Given the description of an element on the screen output the (x, y) to click on. 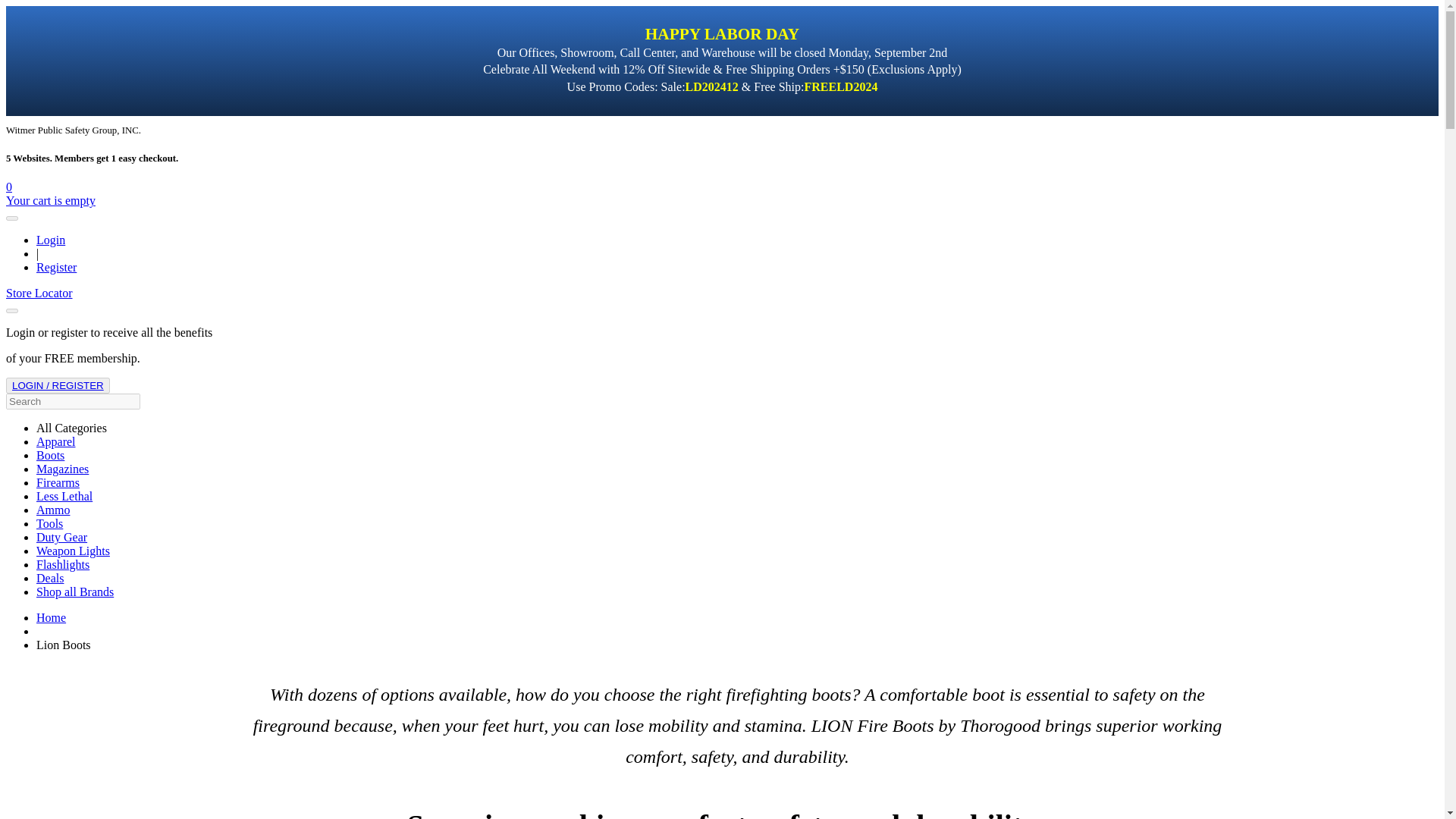
Shop all Brands (74, 591)
Search (11, 310)
Apparel (55, 440)
Login (50, 239)
Duty Gear (61, 536)
Your cart is empty (50, 200)
Register (56, 267)
Deals (50, 577)
Firearms (58, 481)
Magazines (62, 468)
